Given the description of an element on the screen output the (x, y) to click on. 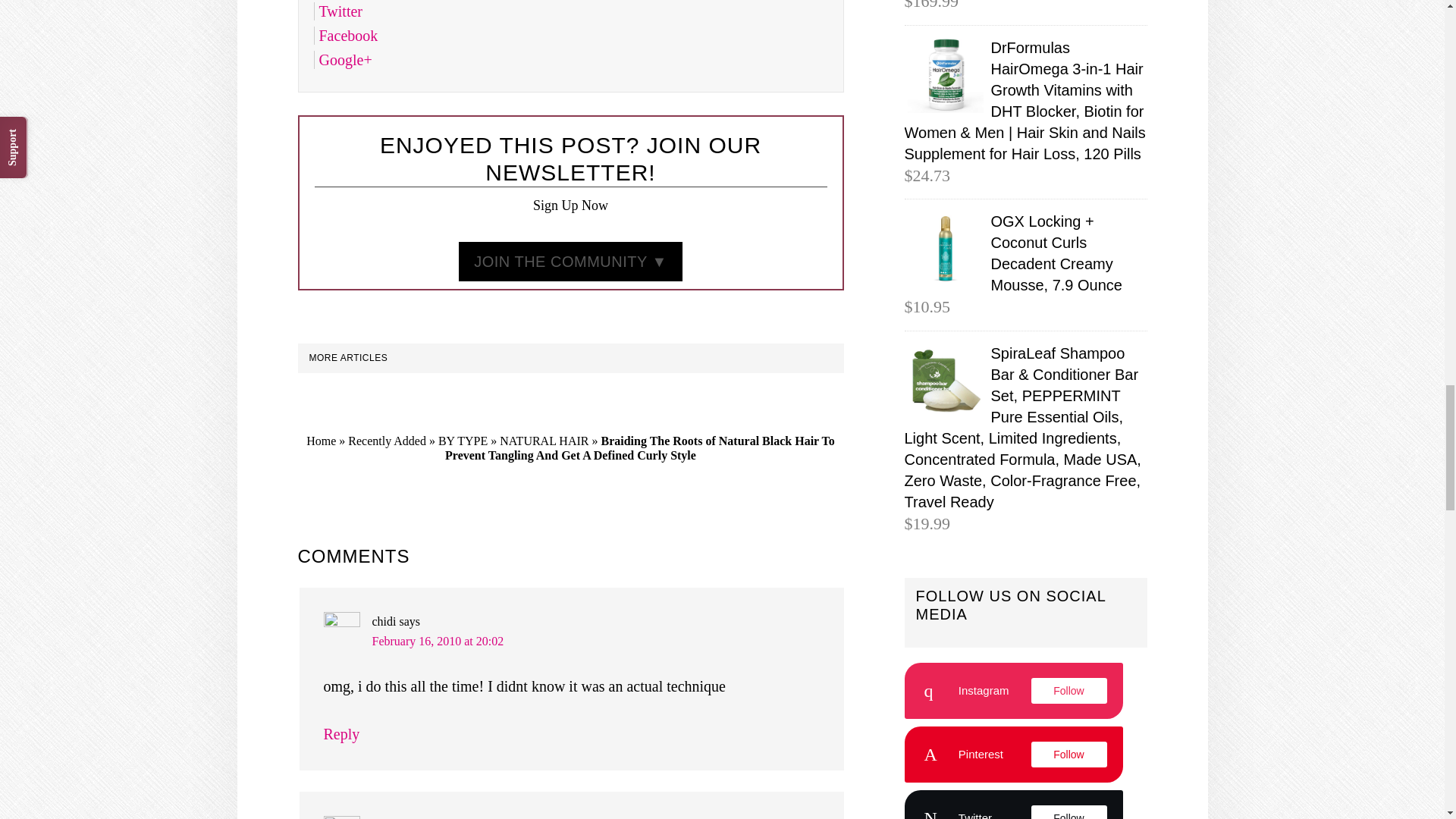
Follow Alma Ruddock on Twitter (339, 11)
Add Alma Ruddock in your circle (344, 59)
